Given the description of an element on the screen output the (x, y) to click on. 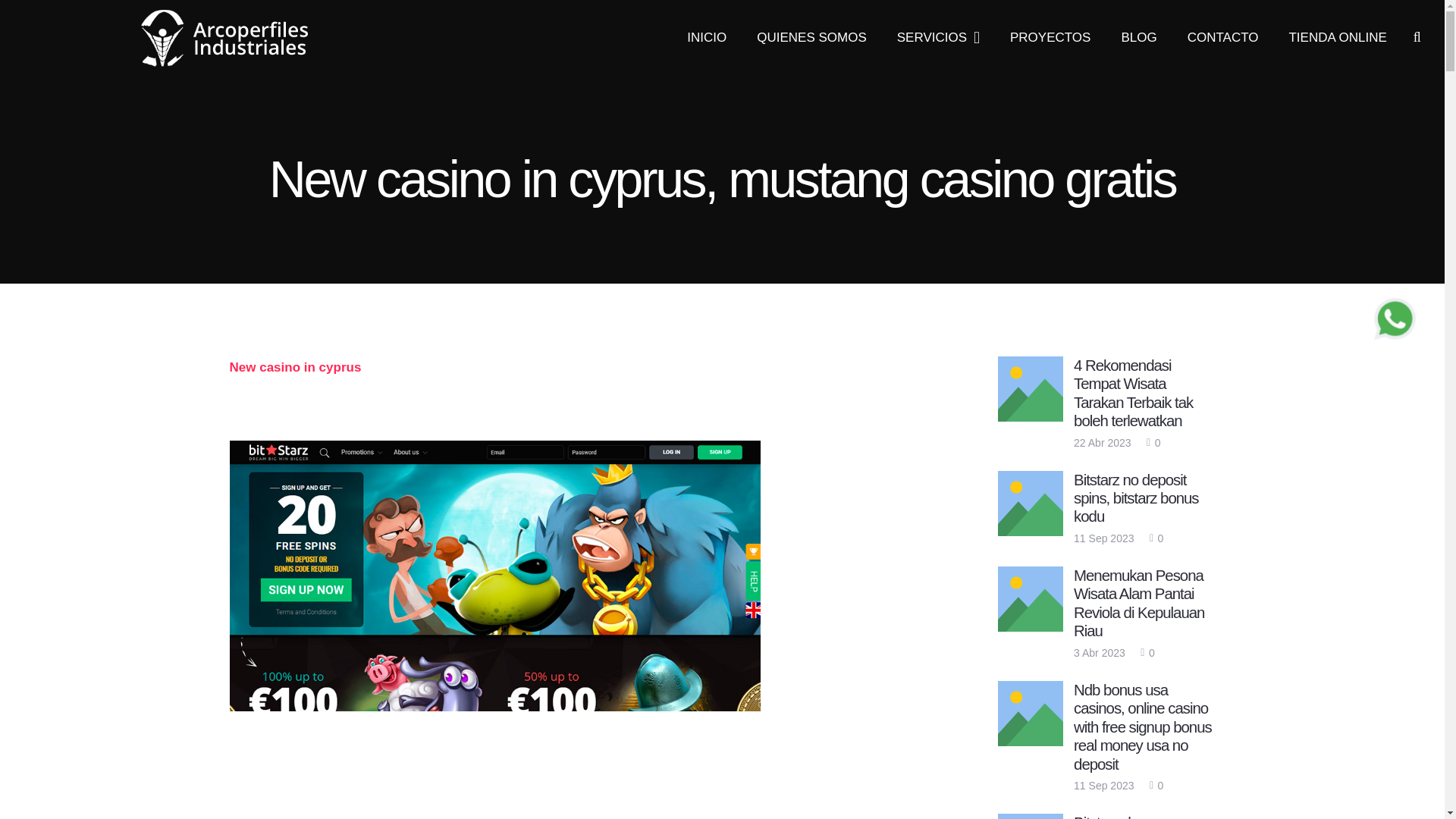
TIENDA ONLINE (1336, 38)
INICIO (706, 38)
SERVICIOS (938, 38)
QUIENES SOMOS (811, 38)
Bitstarz no deposit spins, bitstarz bonus kodu (1136, 498)
New casino in cyprus (294, 367)
PROYECTOS (1049, 38)
CONTACTO (1223, 38)
